Given the description of an element on the screen output the (x, y) to click on. 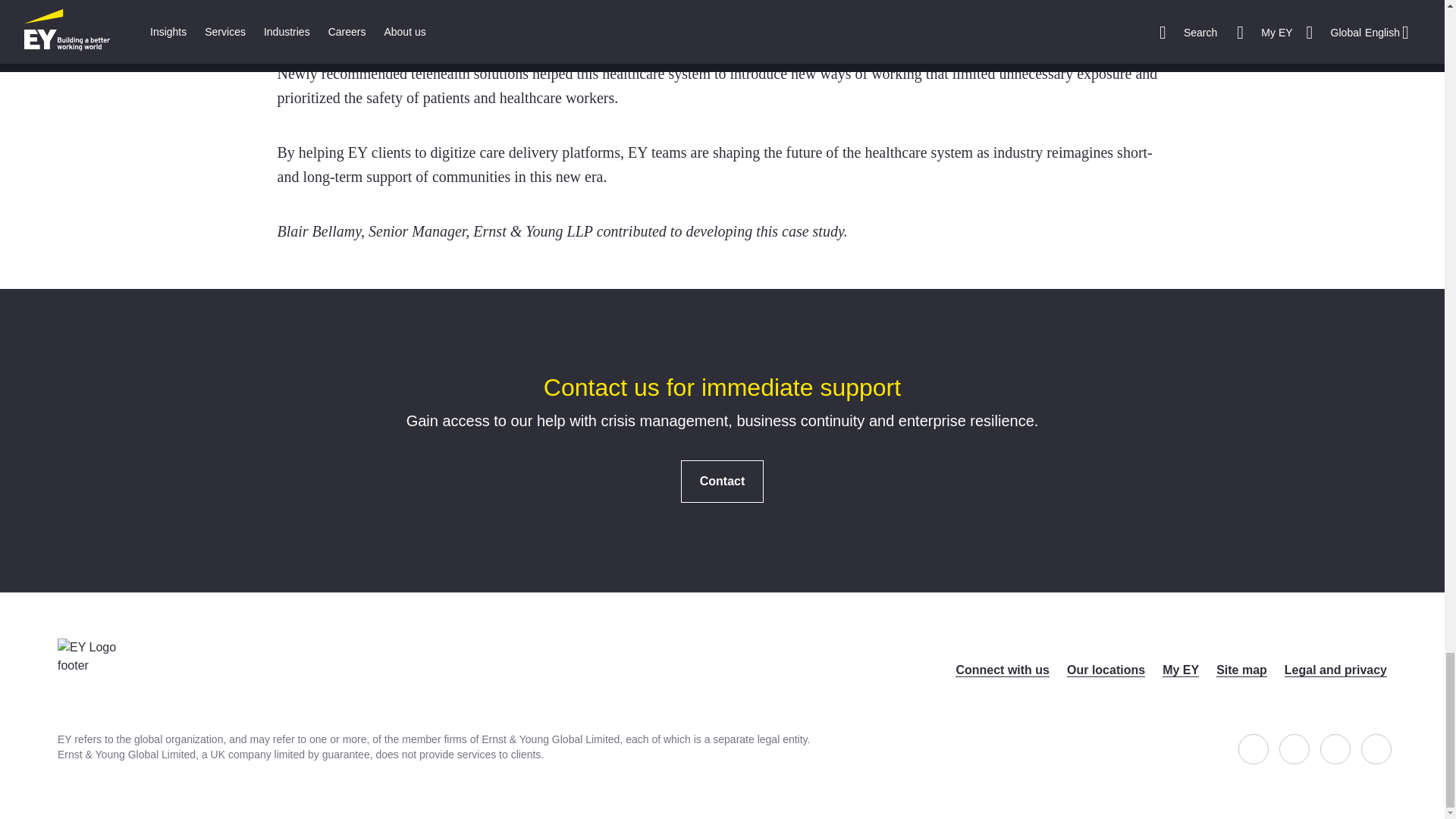
Open Youtube profile (1376, 748)
Open Facebook profile (1252, 748)
Open X profile (1294, 748)
Open LinkedIn profile (1335, 748)
